Given the description of an element on the screen output the (x, y) to click on. 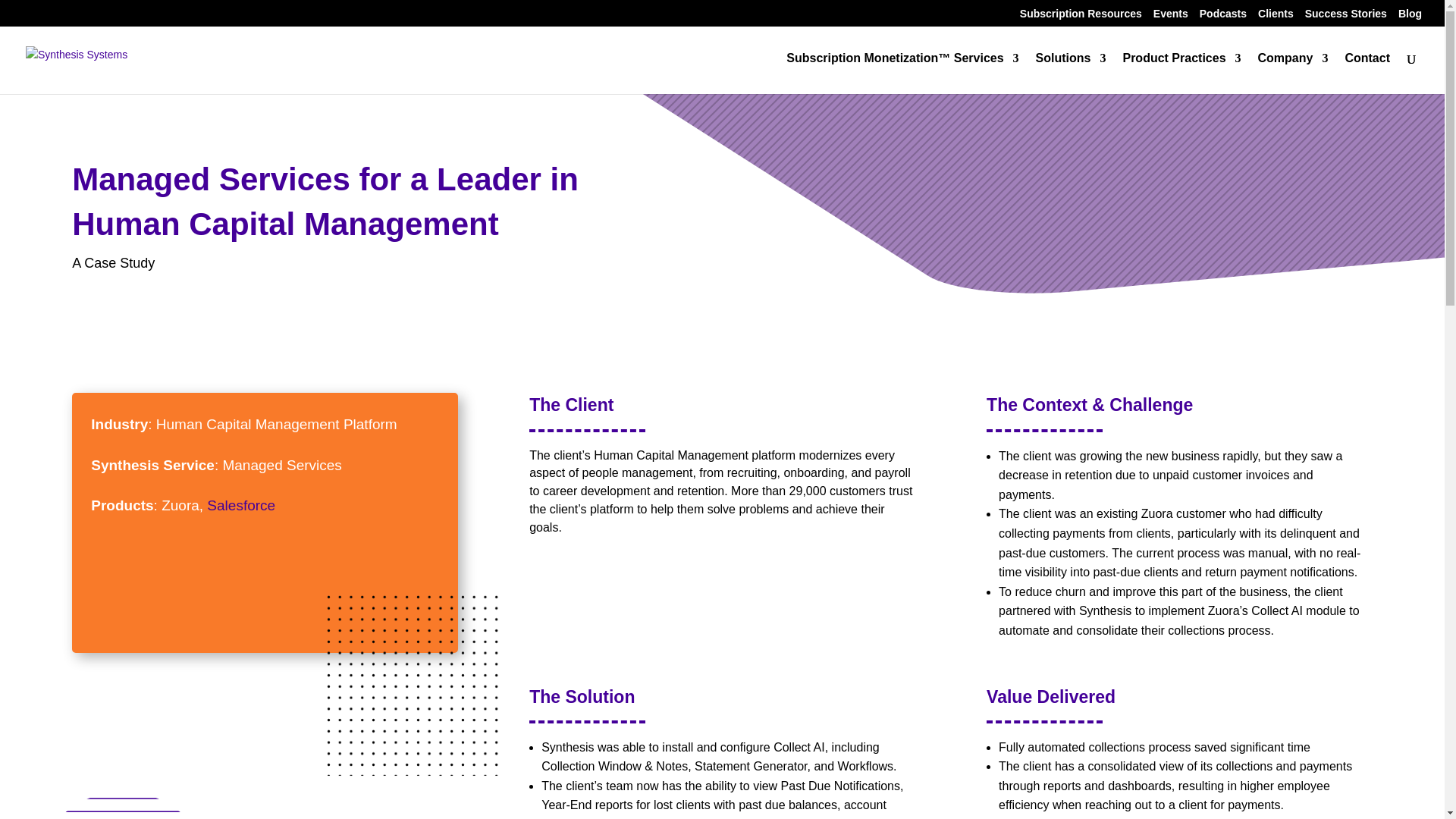
Success Stories (1345, 16)
Company (1292, 73)
Podcasts (1222, 16)
Contact (1366, 73)
Salesforce (240, 505)
Blog (1409, 16)
Events (1170, 16)
Solutions (1070, 73)
Subscription Resources (1080, 16)
Product Practices (1181, 73)
Clients (1275, 16)
